Given the description of an element on the screen output the (x, y) to click on. 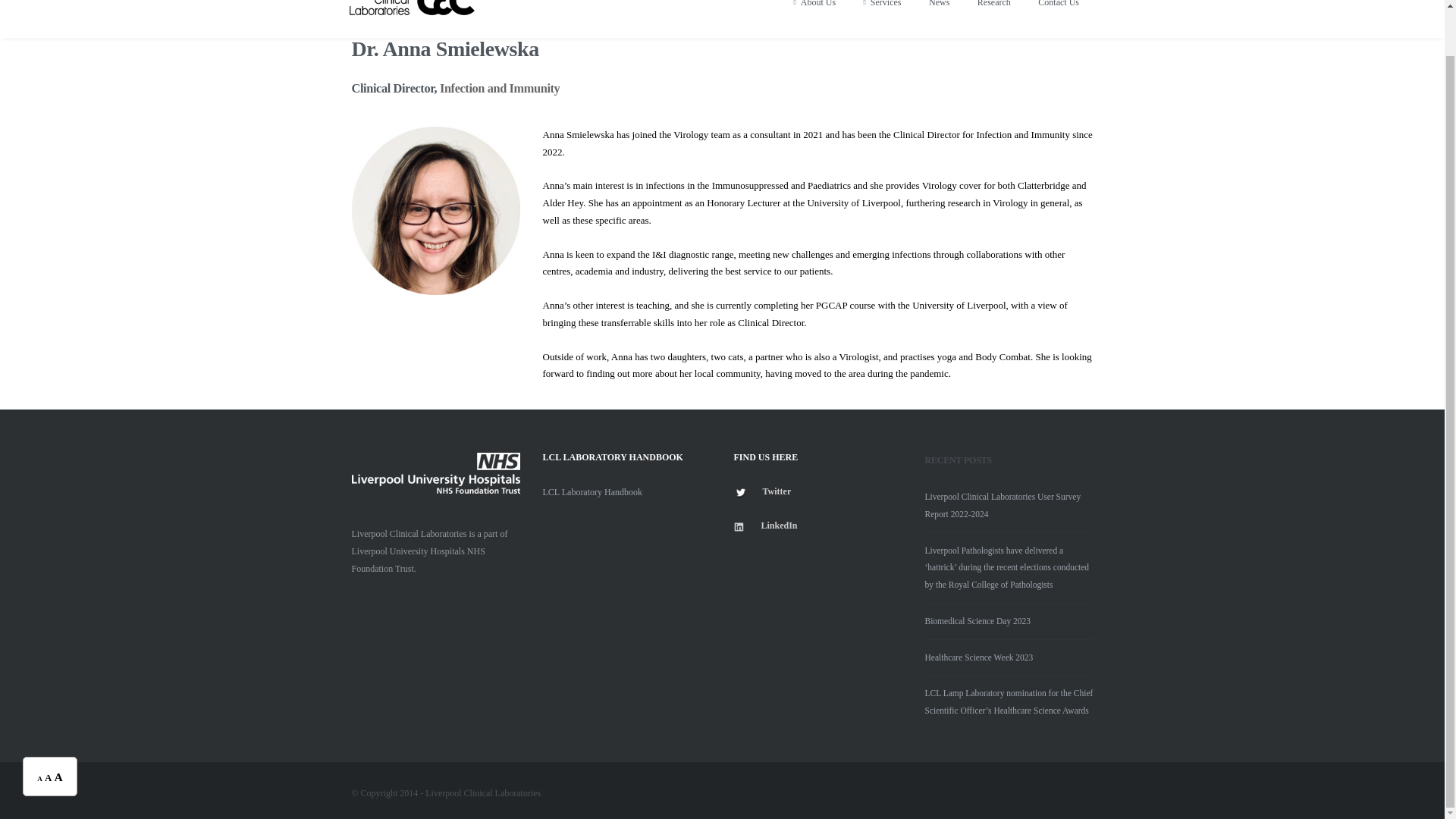
Contact Us (1059, 18)
LCL Laboratory Handbook (593, 491)
Twitter (777, 491)
Infection and Immunity (499, 88)
About Us (813, 18)
Liverpool Clinical Laboratories User Survey Report 2022-2024 (1002, 505)
Services (882, 18)
 LinkedIn (777, 525)
Biomedical Science Day 2023 (977, 620)
Healthcare Science Week 2023 (978, 655)
News (938, 18)
Research (994, 18)
